Given the description of an element on the screen output the (x, y) to click on. 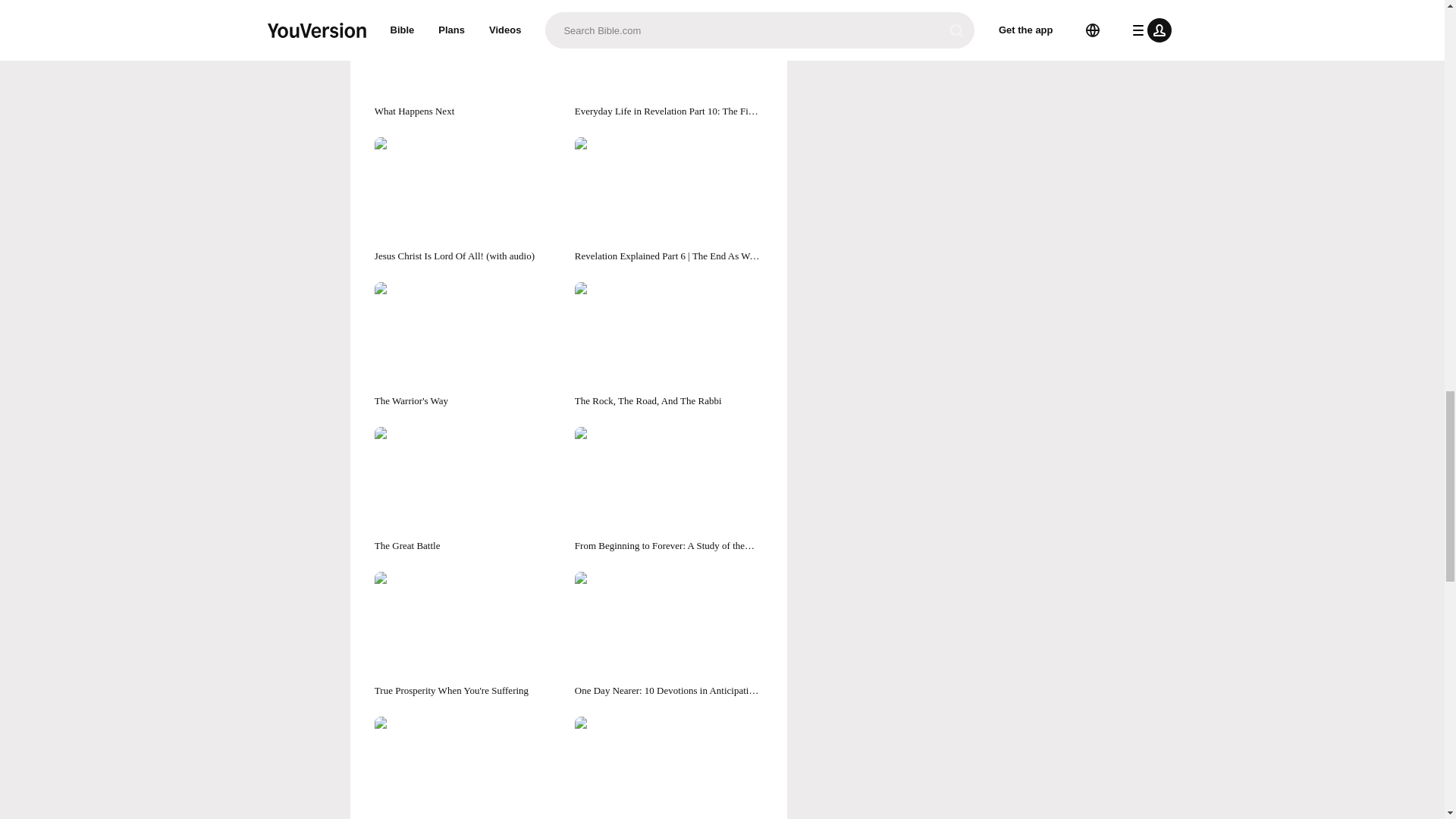
The Warrior's Way (468, 344)
What Happens Next (468, 59)
The Rock, The Road, And The Rabbi (668, 344)
The Great Battle (468, 489)
True Prosperity When You're Suffering (468, 634)
Everyday Life in Revelation Part 10: The Final Day (668, 59)
